Given the description of an element on the screen output the (x, y) to click on. 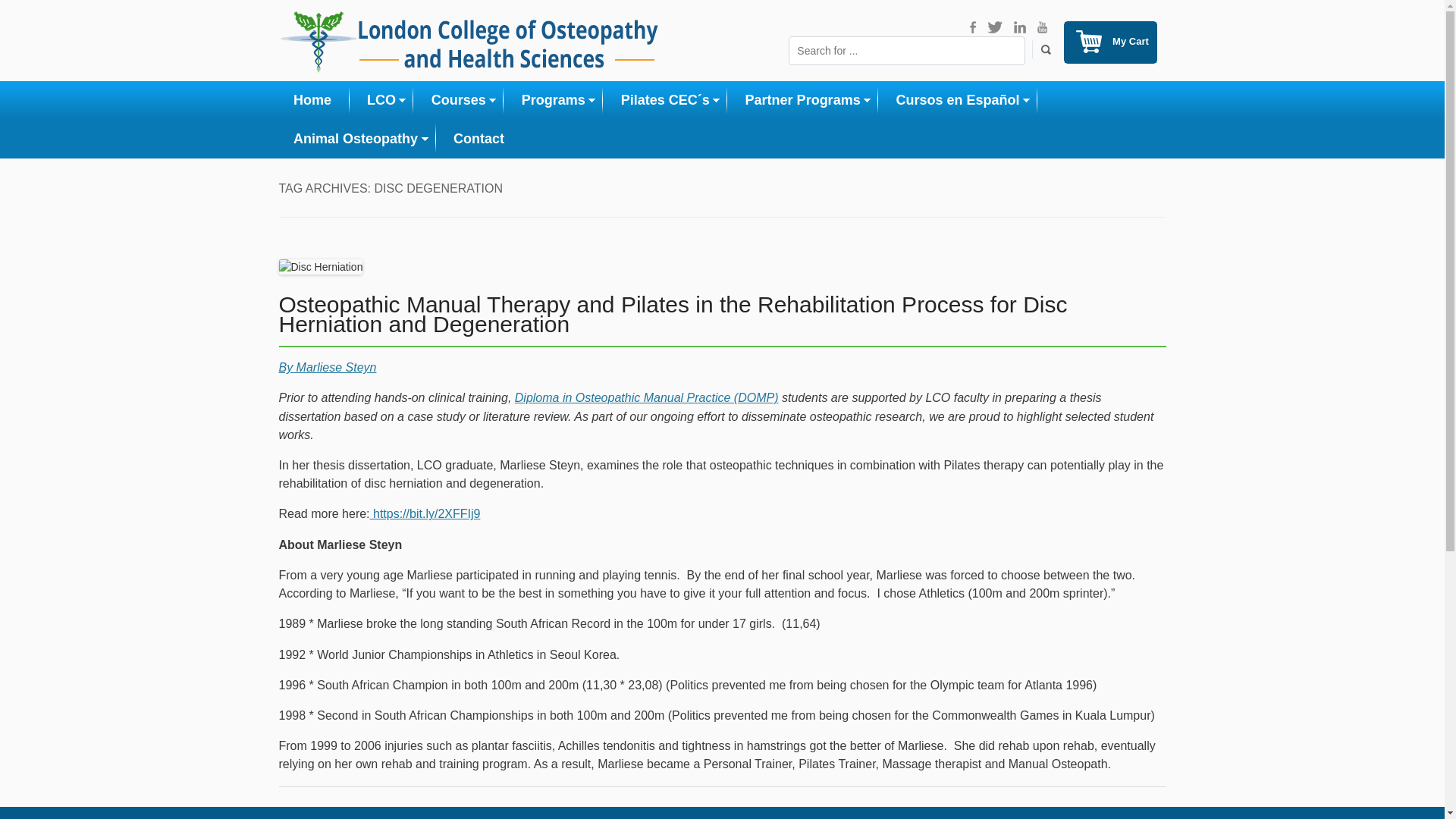
LCO (380, 100)
Skip to content (757, 88)
Skip to content (757, 88)
Courses (457, 100)
Partner Programs (802, 100)
Search (1041, 49)
Programs (552, 100)
Search (1041, 49)
Home (311, 100)
